Given the description of an element on the screen output the (x, y) to click on. 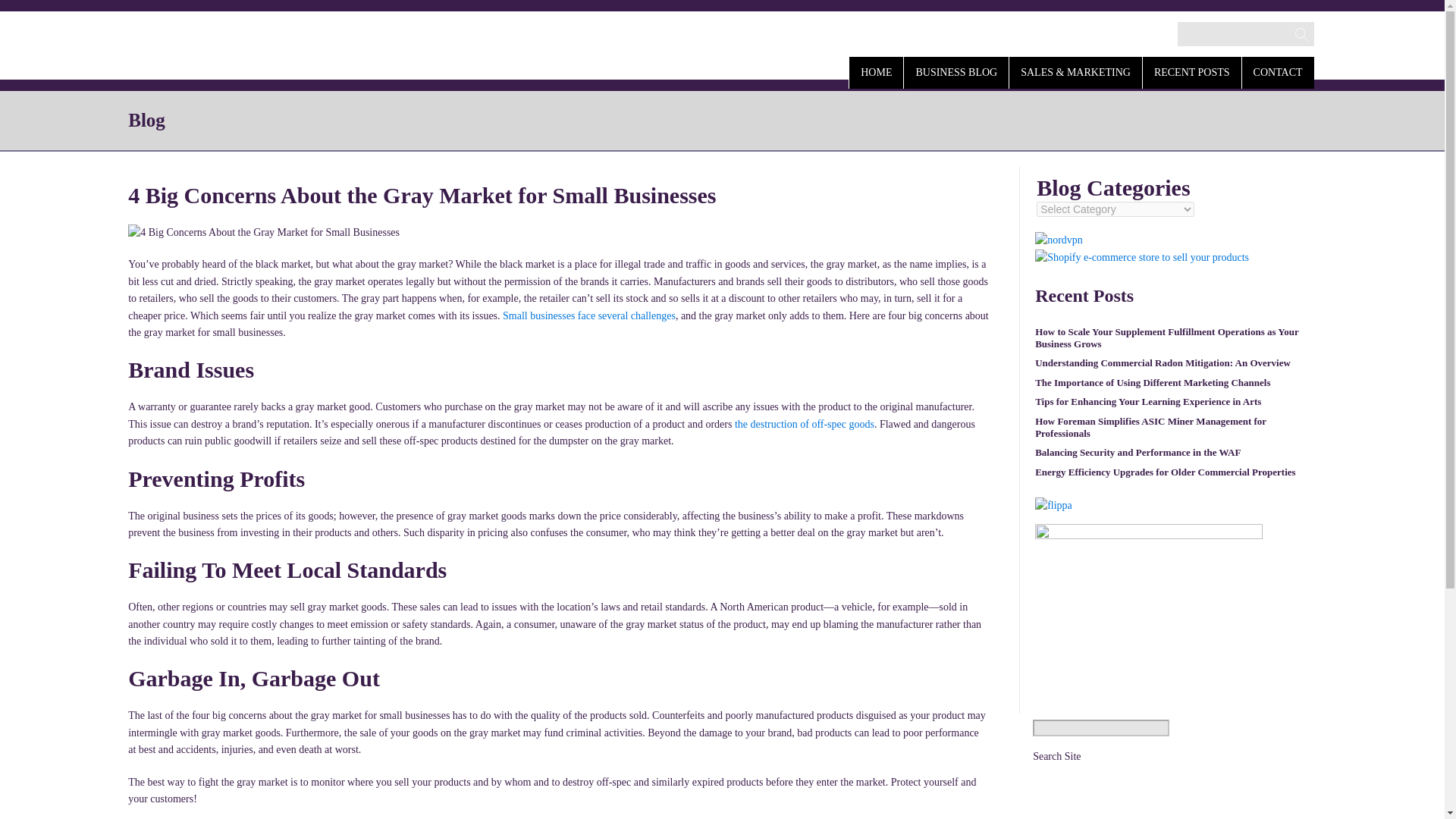
Search (27, 12)
CONTACT (1277, 71)
HOME (875, 71)
BUSINESS BLOG (956, 71)
The Importance of Using Different Marketing Channels (1152, 386)
Understanding Commercial Radon Mitigation: An Overview (1162, 366)
Balancing Security and Performance in the WAF (1137, 456)
Small businesses face several challenges (588, 315)
Tips for Enhancing Your Learning Experience in Arts (1147, 405)
Energy Efficiency Upgrades for Older Commercial Properties (1165, 476)
